Given the description of an element on the screen output the (x, y) to click on. 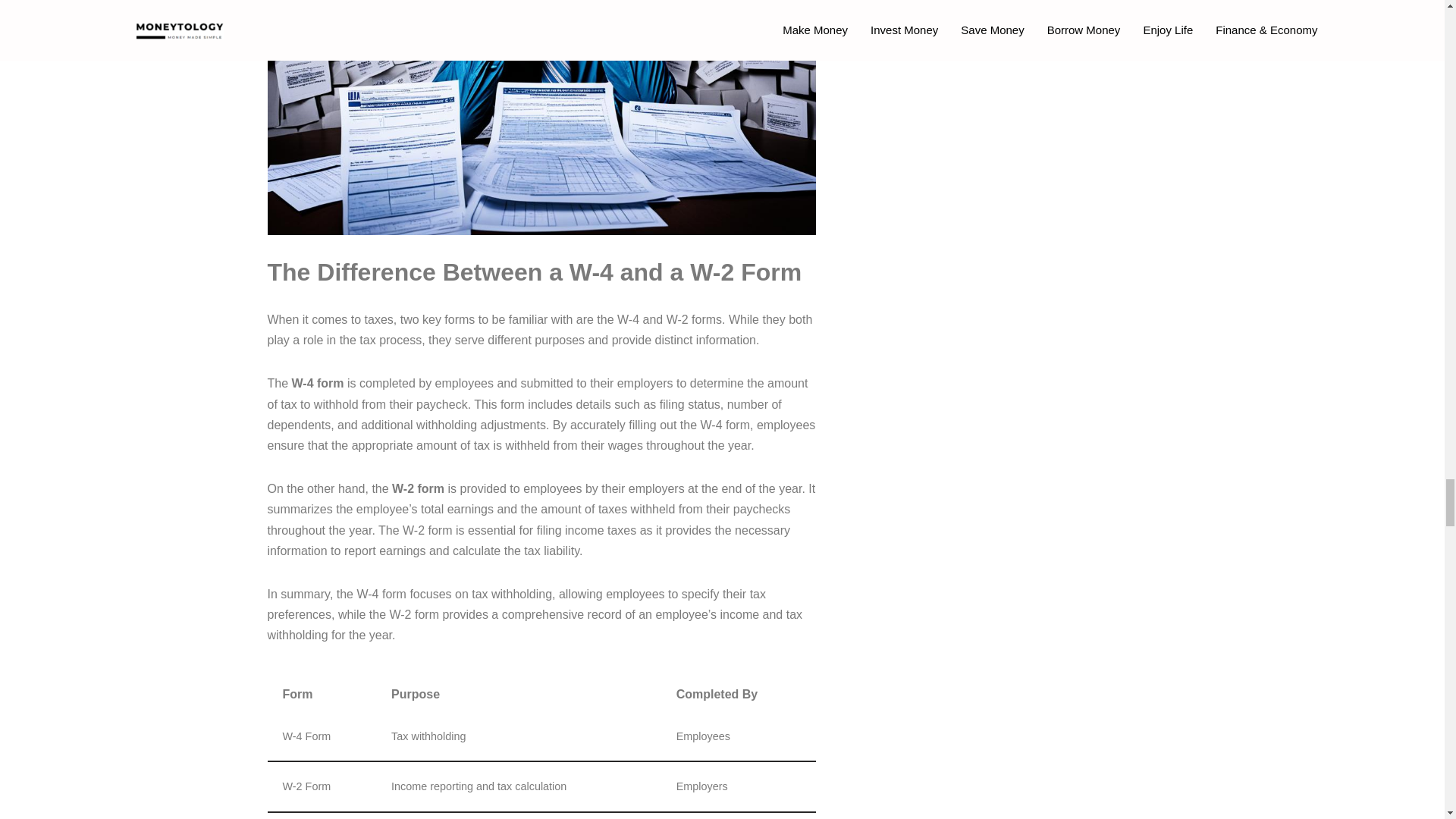
navigating w4 for beginners (540, 117)
